Given the description of an element on the screen output the (x, y) to click on. 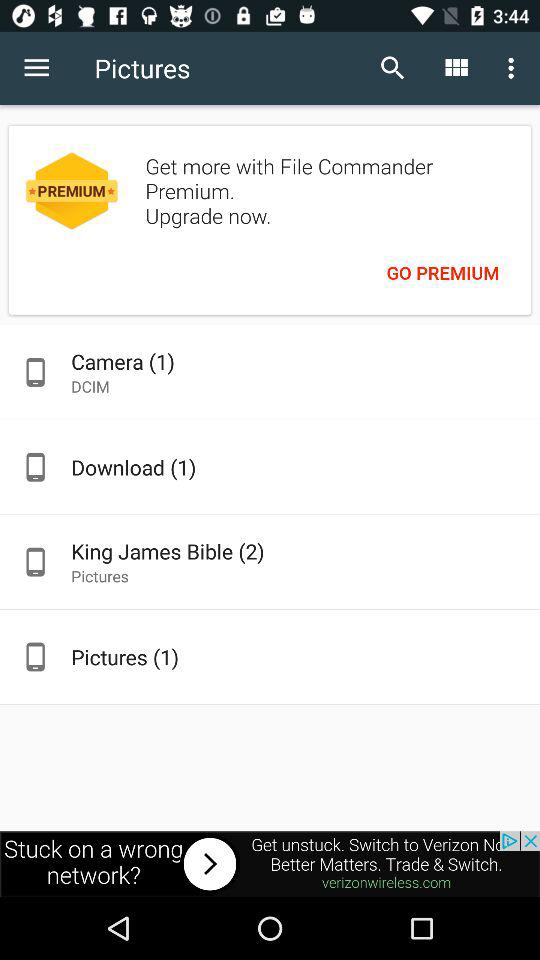
advertisement page (270, 864)
